Given the description of an element on the screen output the (x, y) to click on. 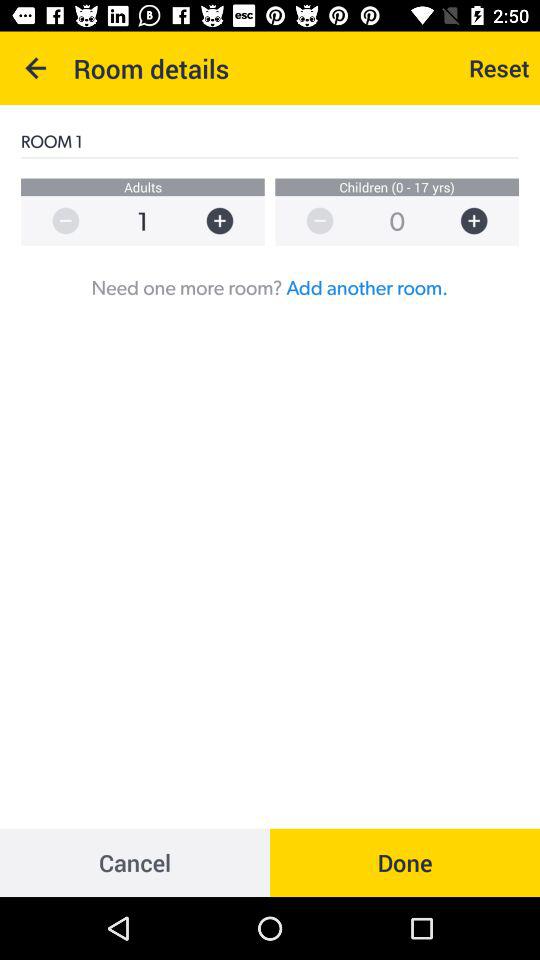
increase by 1 (229, 220)
